Given the description of an element on the screen output the (x, y) to click on. 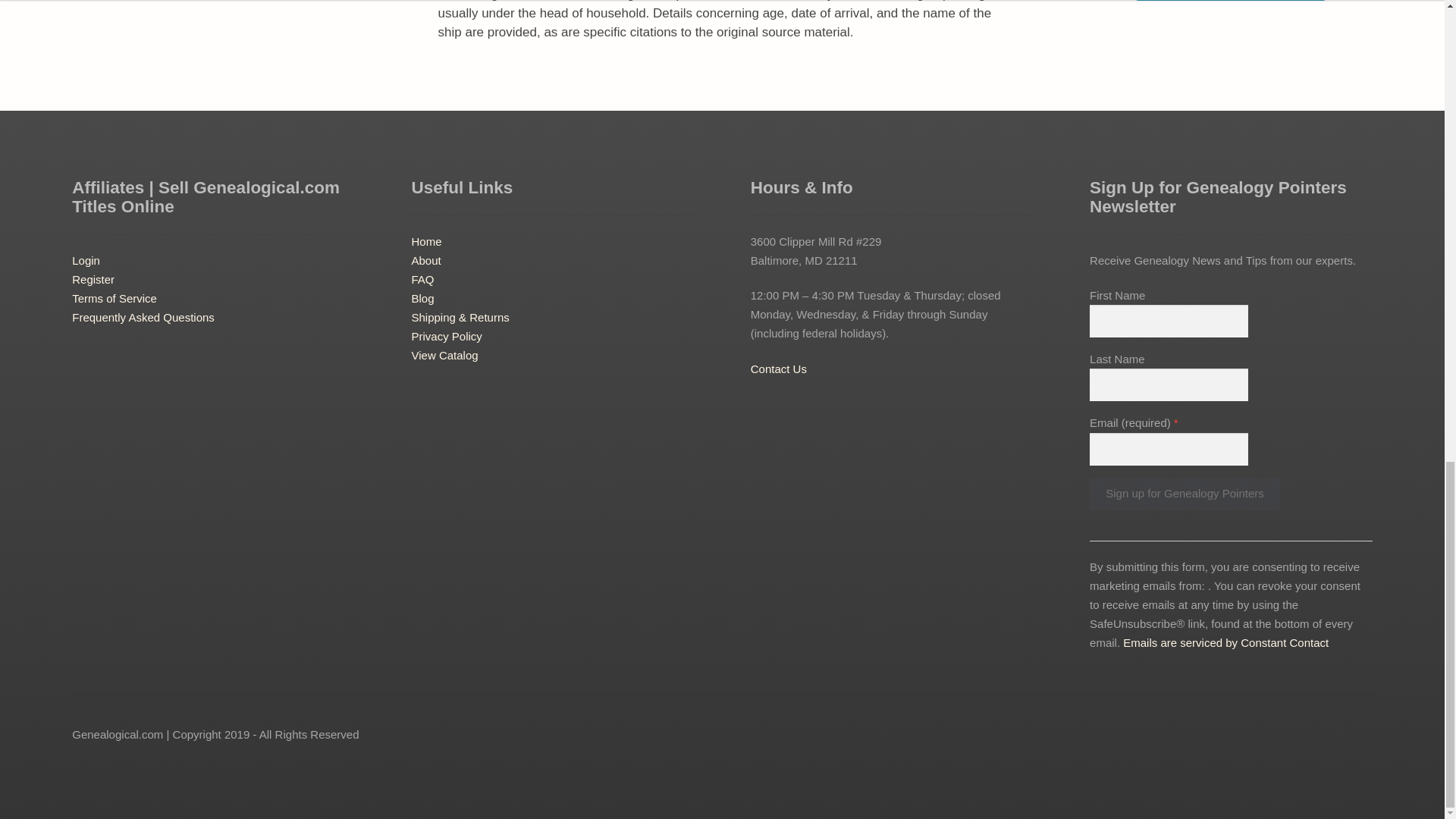
Sign up for Genealogy Pointers (1184, 493)
